Given the description of an element on the screen output the (x, y) to click on. 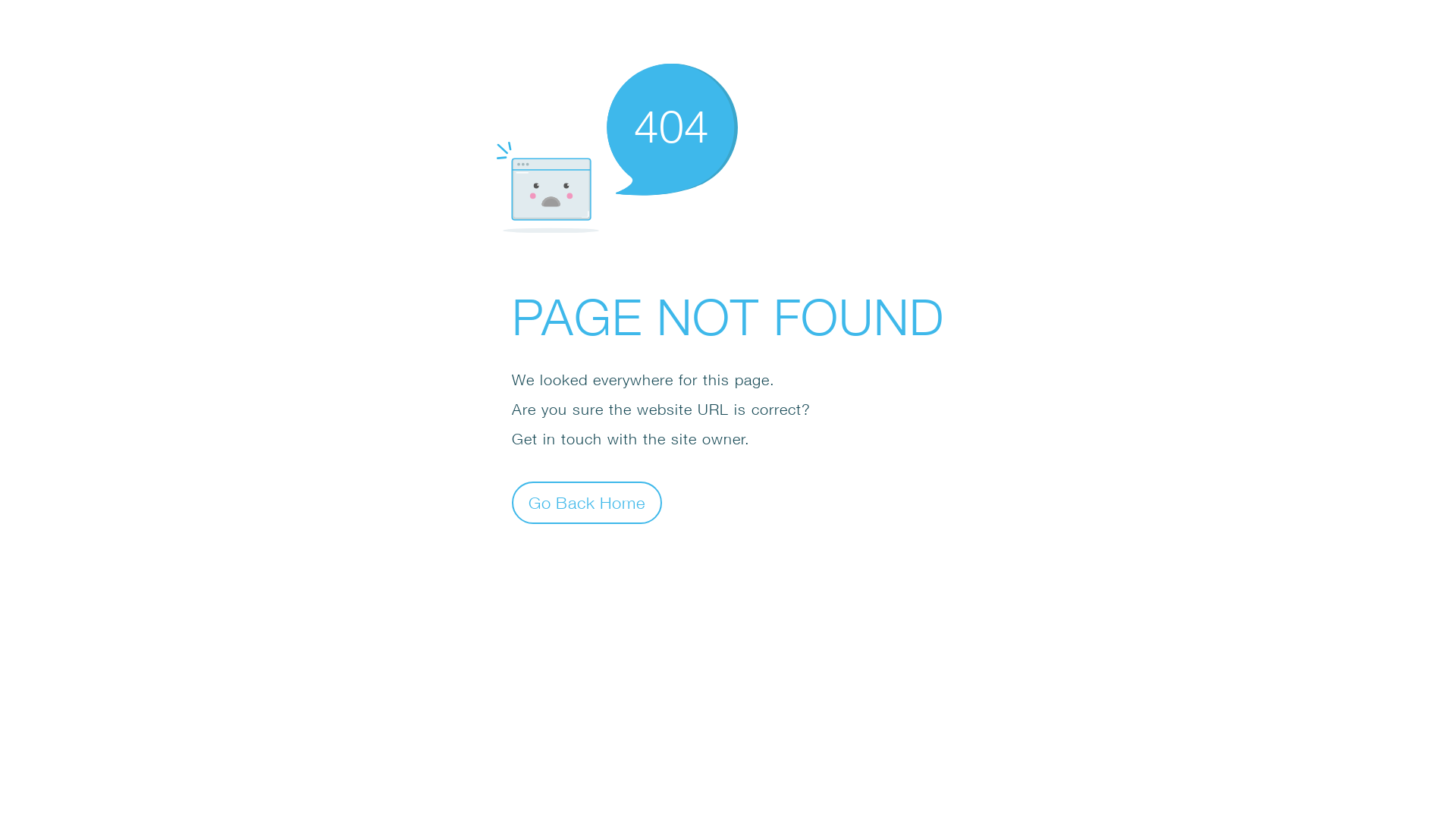
Go Back Home Element type: text (586, 502)
